Given the description of an element on the screen output the (x, y) to click on. 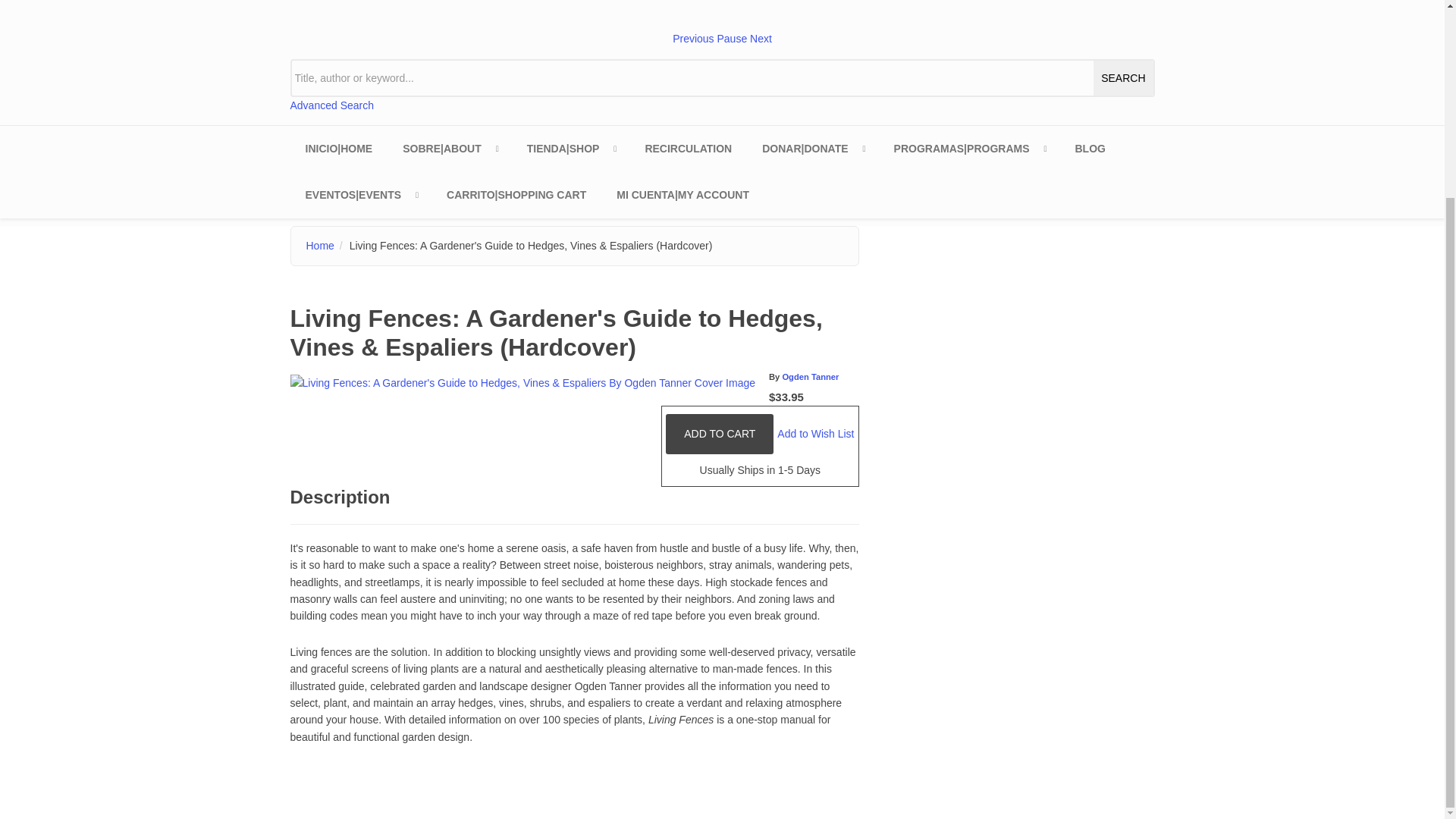
Title, author or keyword... (721, 77)
Add to Cart (719, 433)
search (1123, 77)
Advanced Search (331, 105)
Previous (692, 38)
Pause (731, 38)
Goes to home page (338, 148)
RECIRCULATION (687, 148)
search (1123, 77)
Next (760, 38)
